Given the description of an element on the screen output the (x, y) to click on. 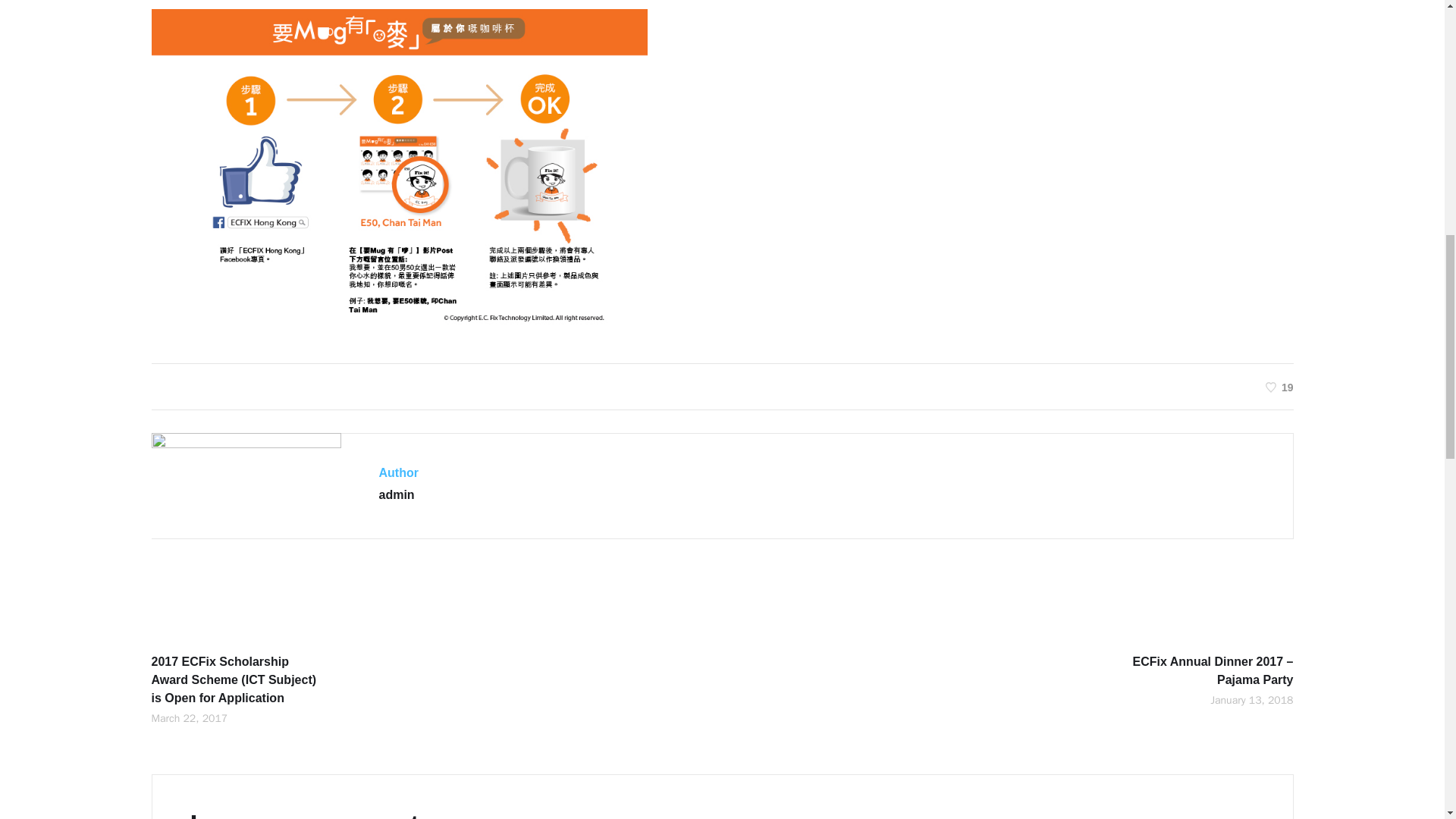
Like (1279, 386)
